Given the description of an element on the screen output the (x, y) to click on. 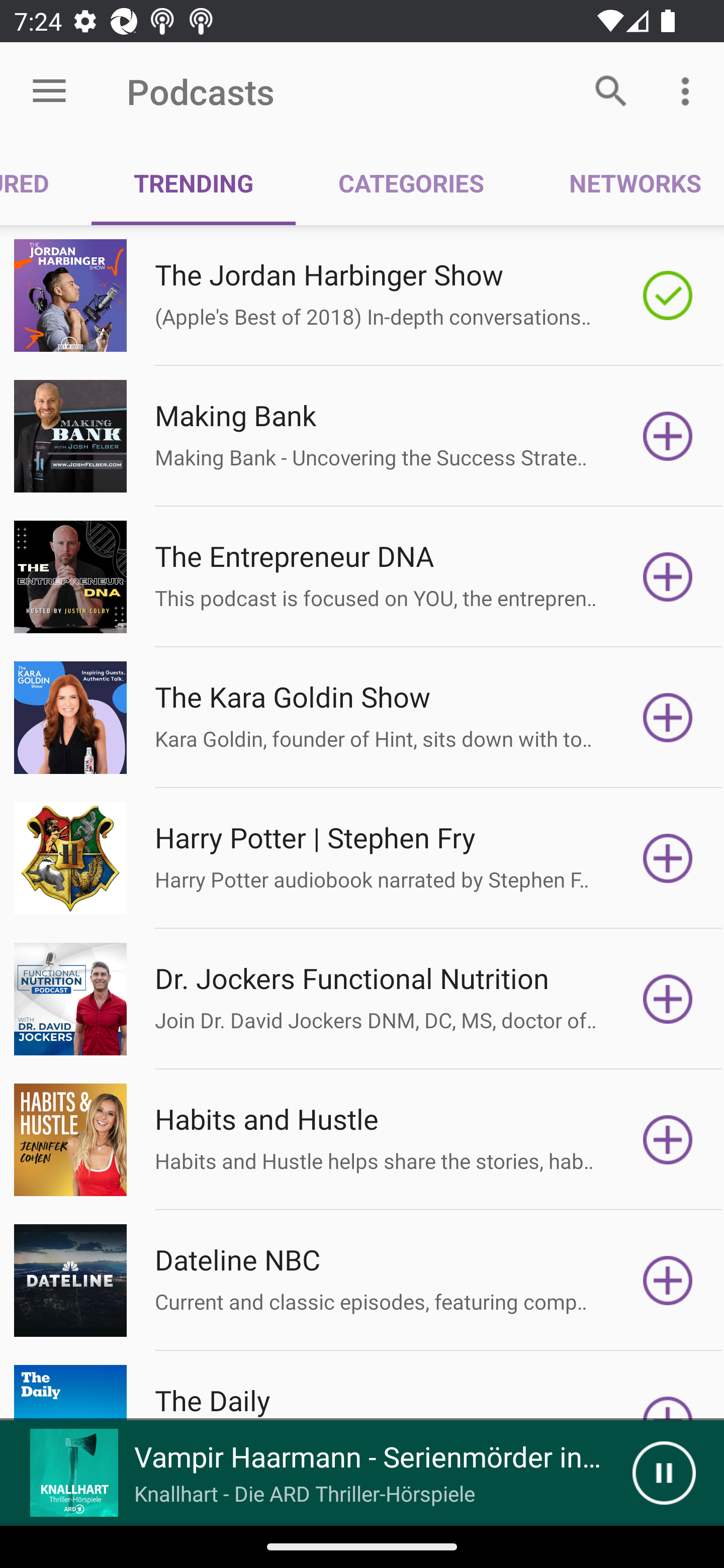
Open menu (49, 91)
Search (611, 90)
More options (688, 90)
TRENDING (193, 183)
CATEGORIES (410, 183)
NETWORKS (625, 183)
Subscribed (667, 295)
Subscribe (667, 435)
Subscribe (667, 576)
Subscribe (667, 717)
Subscribe (667, 858)
Subscribe (667, 998)
Subscribe (667, 1139)
Subscribe (667, 1280)
Pause (663, 1472)
